Given the description of an element on the screen output the (x, y) to click on. 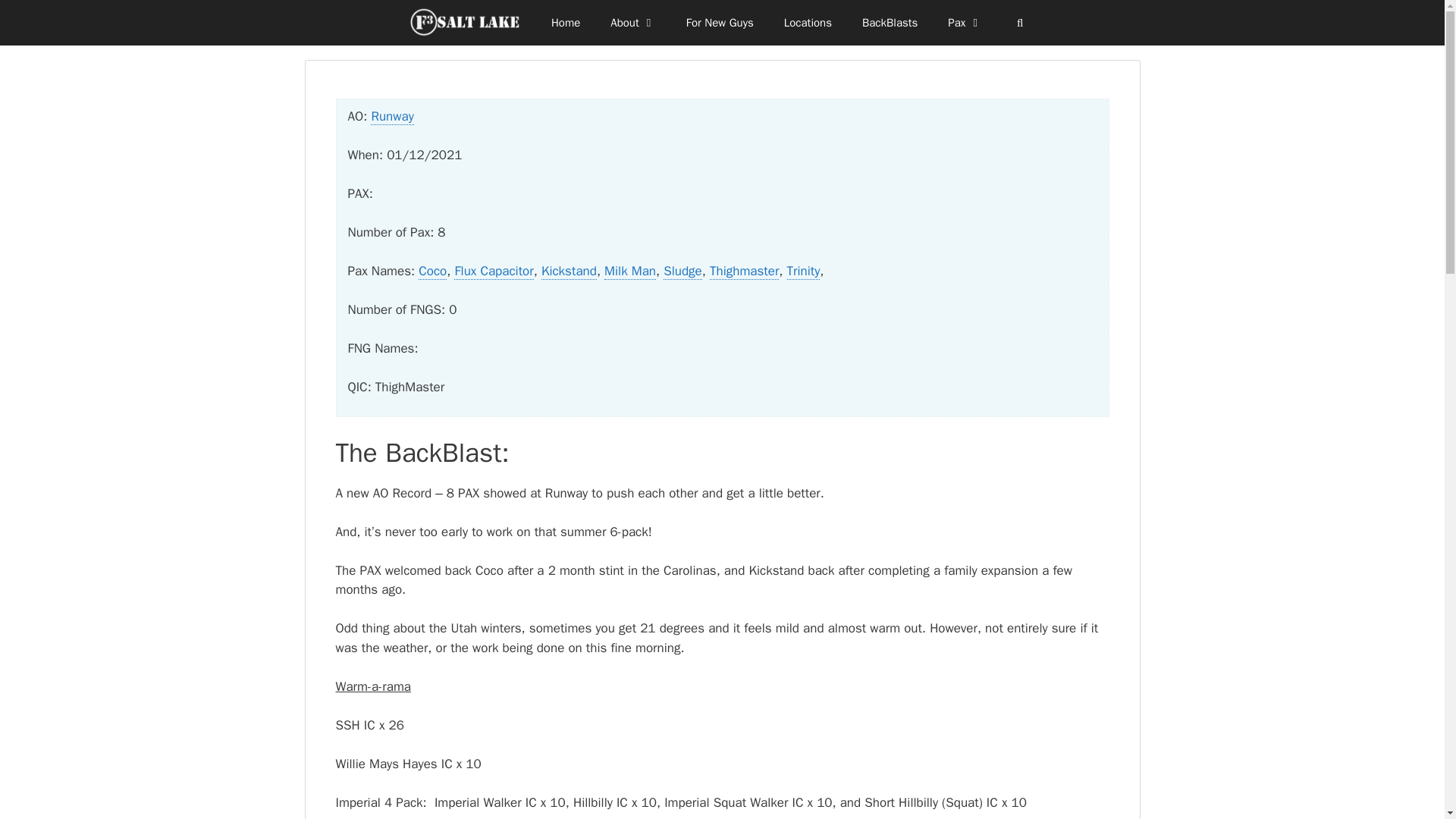
Pax (965, 22)
F3 Salt Lake (468, 22)
Locations (807, 22)
BackBlasts (890, 22)
Coco (432, 271)
For New Guys (719, 22)
Runway (392, 116)
Home (565, 22)
About (632, 22)
